Given the description of an element on the screen output the (x, y) to click on. 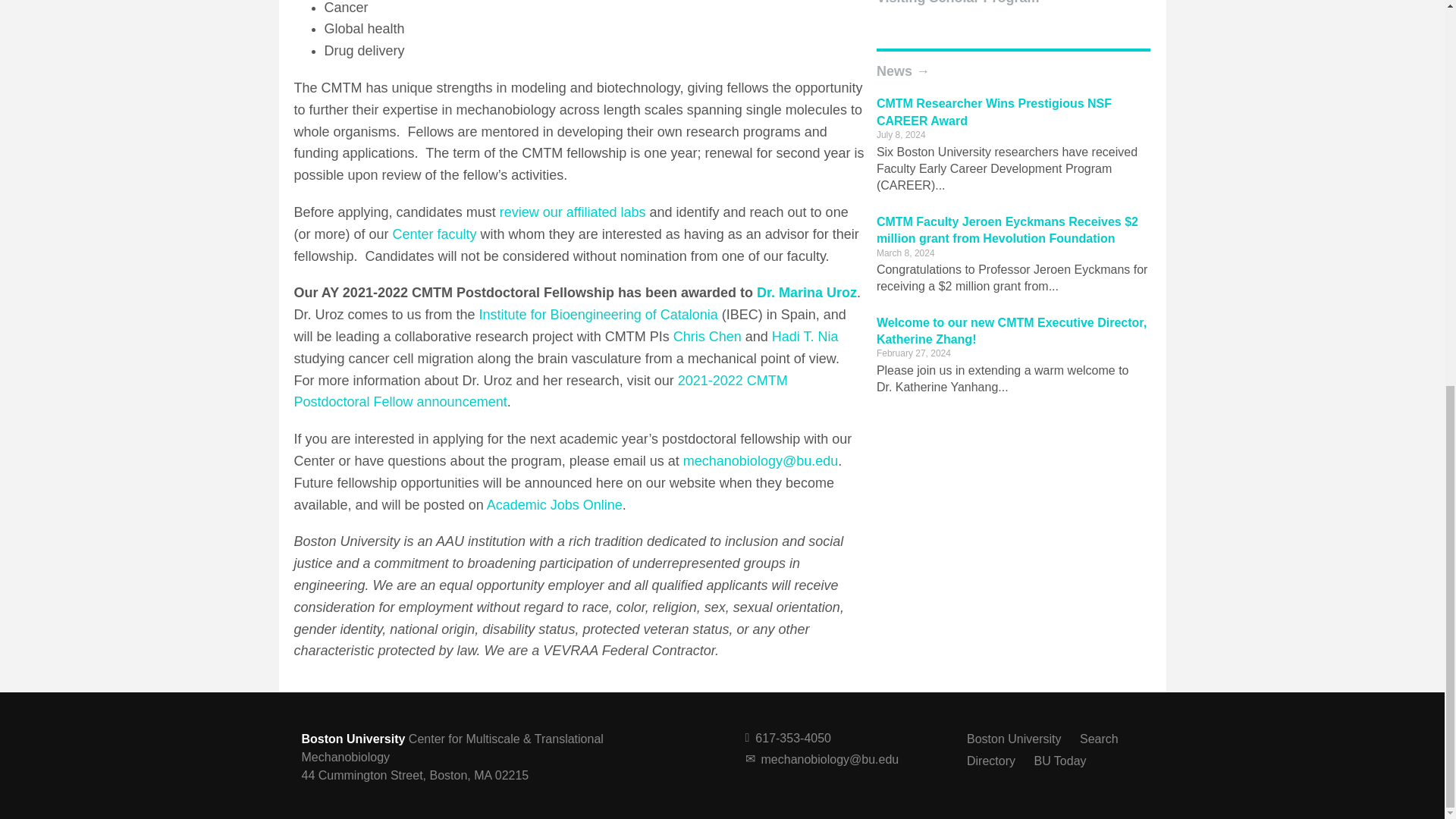
Dr. Marina Uroz (807, 292)
Center faculty (435, 233)
Chris Chen (706, 336)
review our affiliated labs (572, 212)
Hadi T. Nia (804, 336)
Institute for Bioengineering of Catalonia (598, 314)
